Given the description of an element on the screen output the (x, y) to click on. 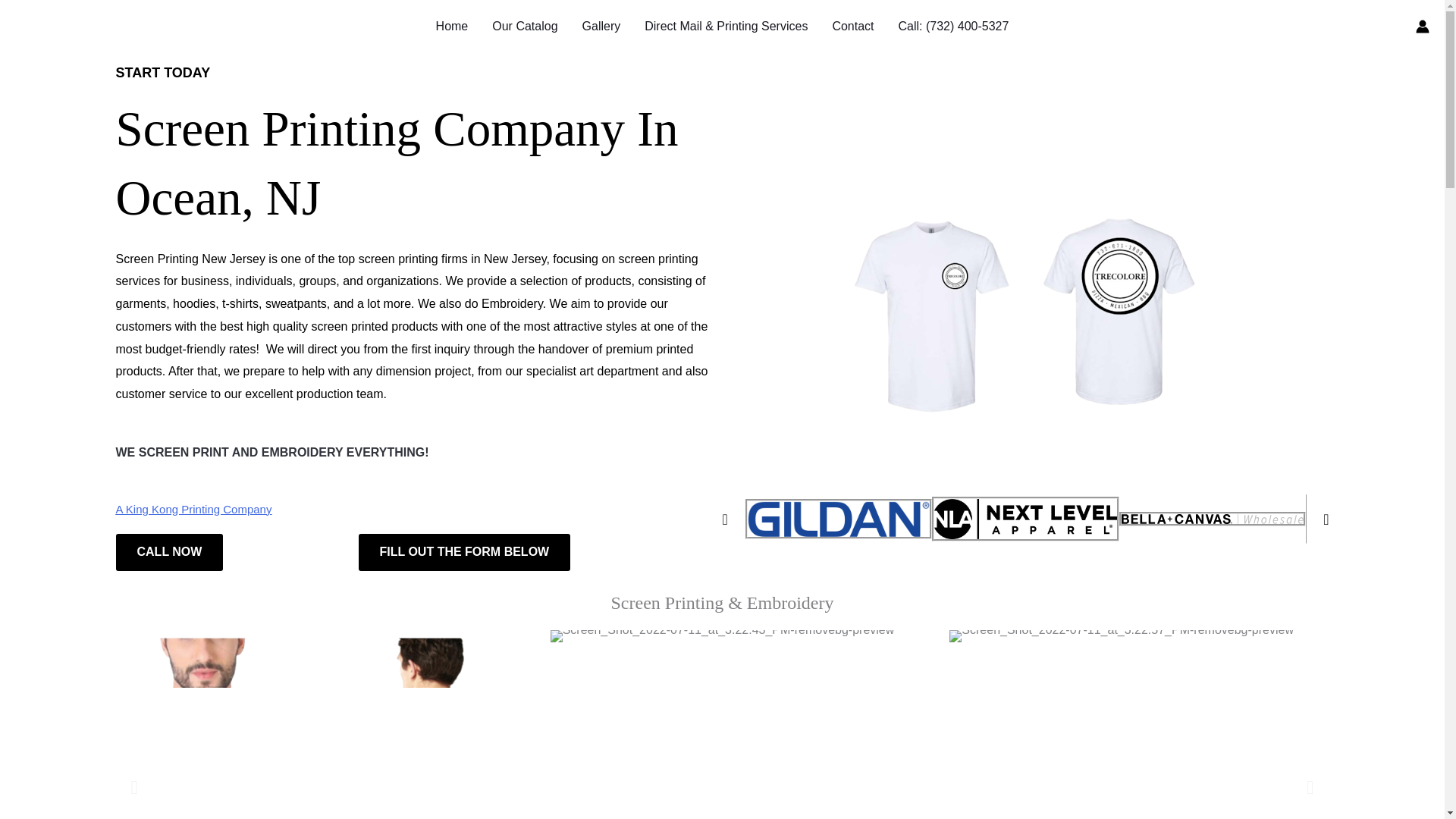
Our Catalog (524, 26)
A King Kong Printing Company (192, 508)
Gallery (601, 26)
FILL OUT THE FORM BELOW (464, 551)
Home (451, 26)
Contact (852, 26)
CALL NOW (168, 551)
